Given the description of an element on the screen output the (x, y) to click on. 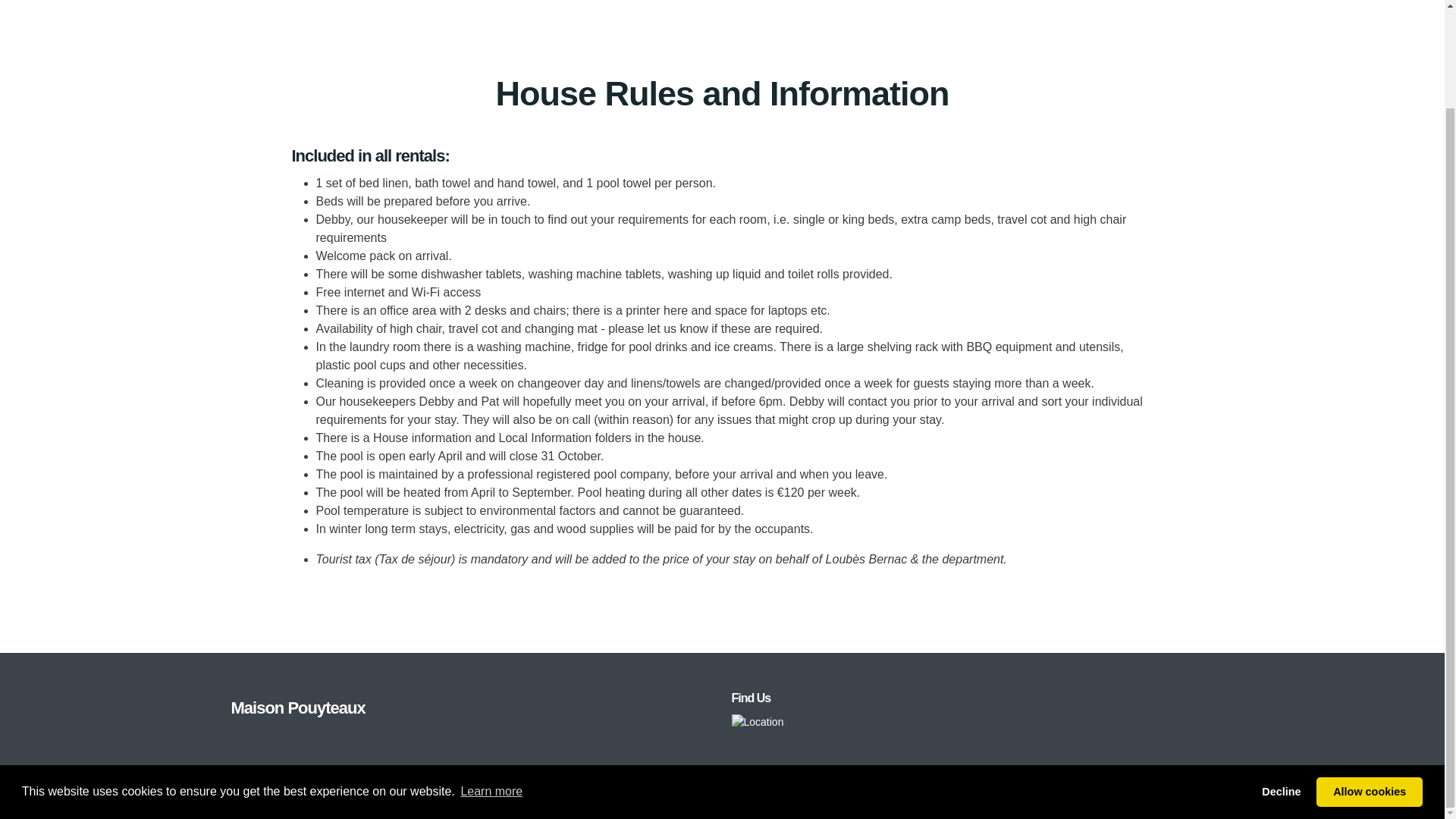
Covid (565, 793)
Privacy Policy (503, 793)
PromoteMyPlace (1173, 793)
Allow cookies (1369, 677)
Learn more (491, 677)
Decline (1281, 677)
Location (756, 722)
Cookie Policy (626, 793)
map (756, 720)
